Given the description of an element on the screen output the (x, y) to click on. 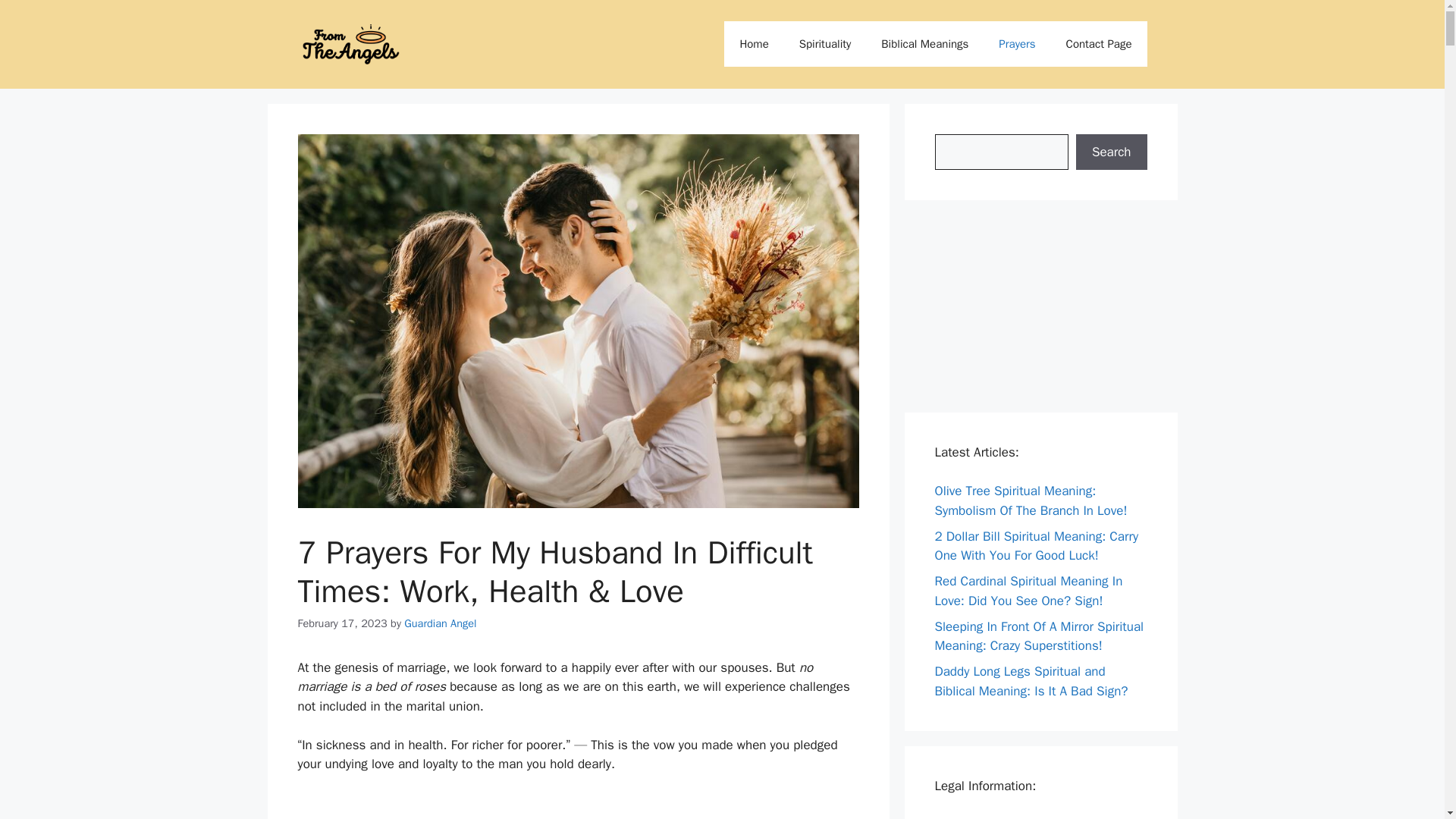
Search (1111, 152)
View all posts by Guardian Angel (440, 622)
Biblical Meanings (925, 43)
From The Angels (350, 44)
Guardian Angel (440, 622)
Contact Page (971, 817)
Contact Page (1099, 43)
